Given the description of an element on the screen output the (x, y) to click on. 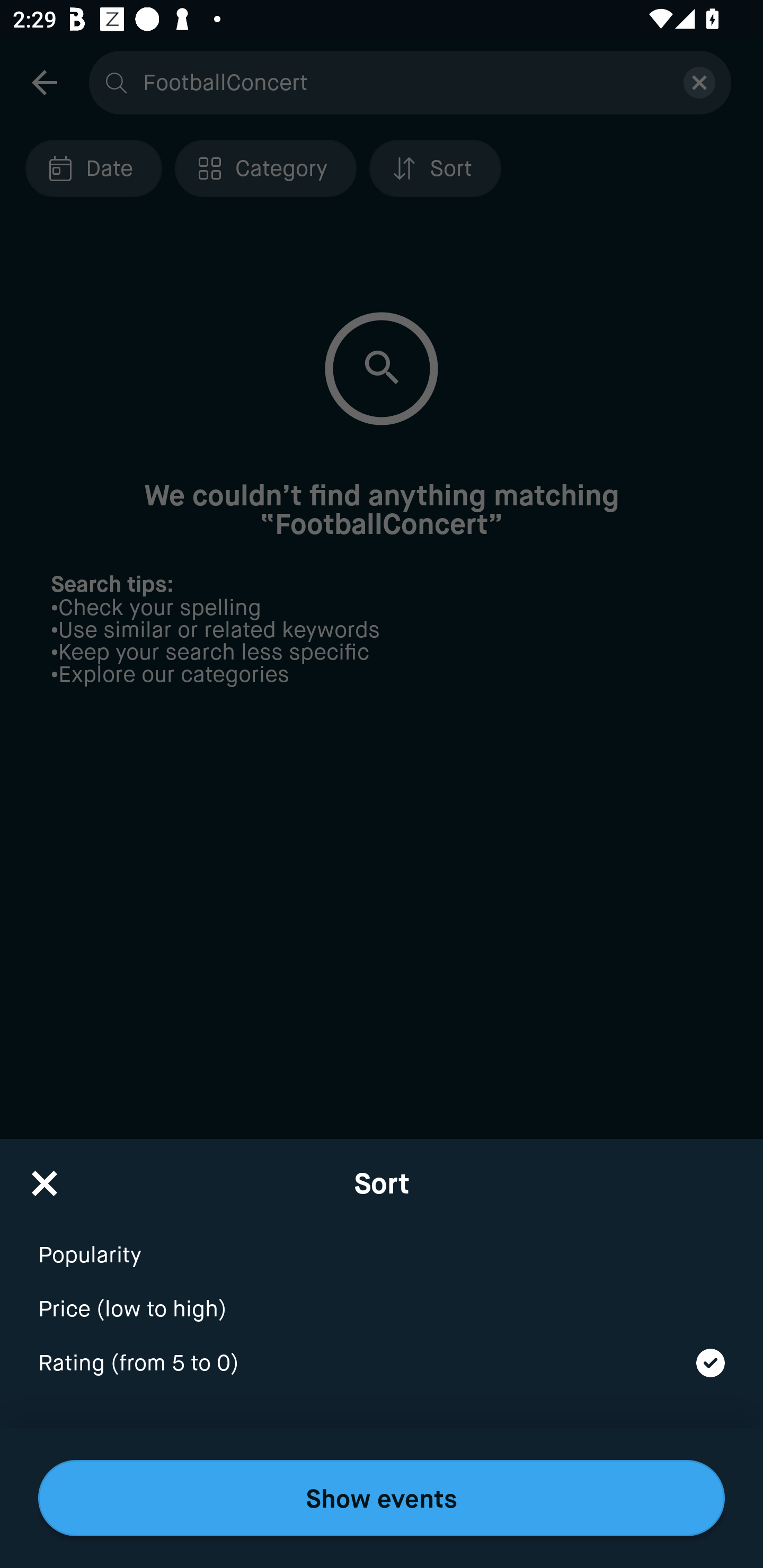
CloseButton (44, 1177)
Popularity (381, 1243)
Price (low to high) (381, 1297)
Rating (from 5 to 0) Selected Icon (381, 1362)
Show events (381, 1497)
